Given the description of an element on the screen output the (x, y) to click on. 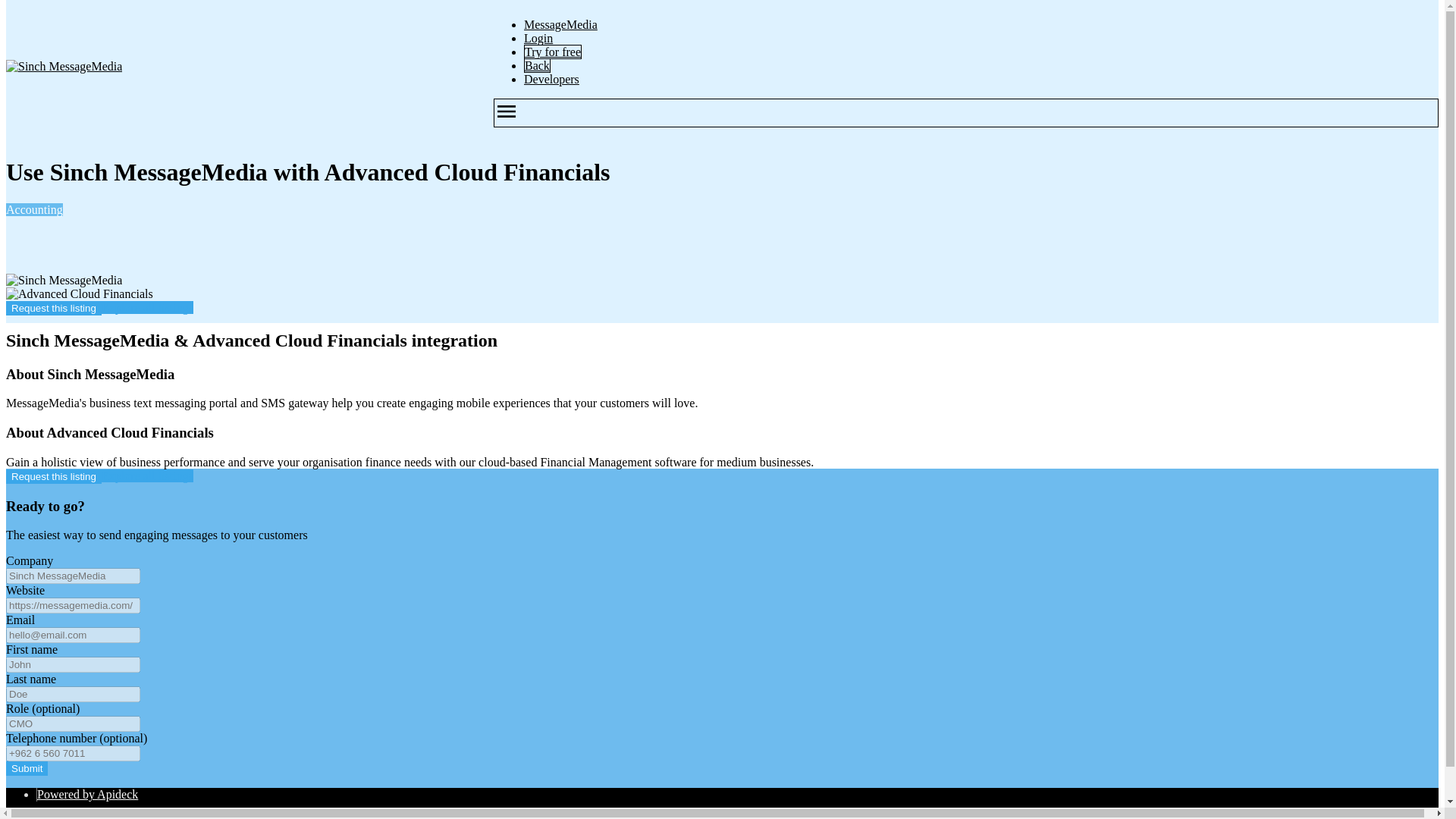
Powered by Apideck (87, 793)
Advanced Cloud Financials (78, 294)
Catalog (56, 816)
Sinch MessageMedia (63, 280)
Try for free (552, 51)
Explore all listings (147, 307)
Sinch MessageMedia (63, 66)
Back (537, 65)
Submit (26, 768)
Request this listing (53, 308)
Developers (551, 78)
Explore all listings (147, 475)
Login (538, 38)
Request this listing (53, 476)
MessageMedia (560, 24)
